Given the description of an element on the screen output the (x, y) to click on. 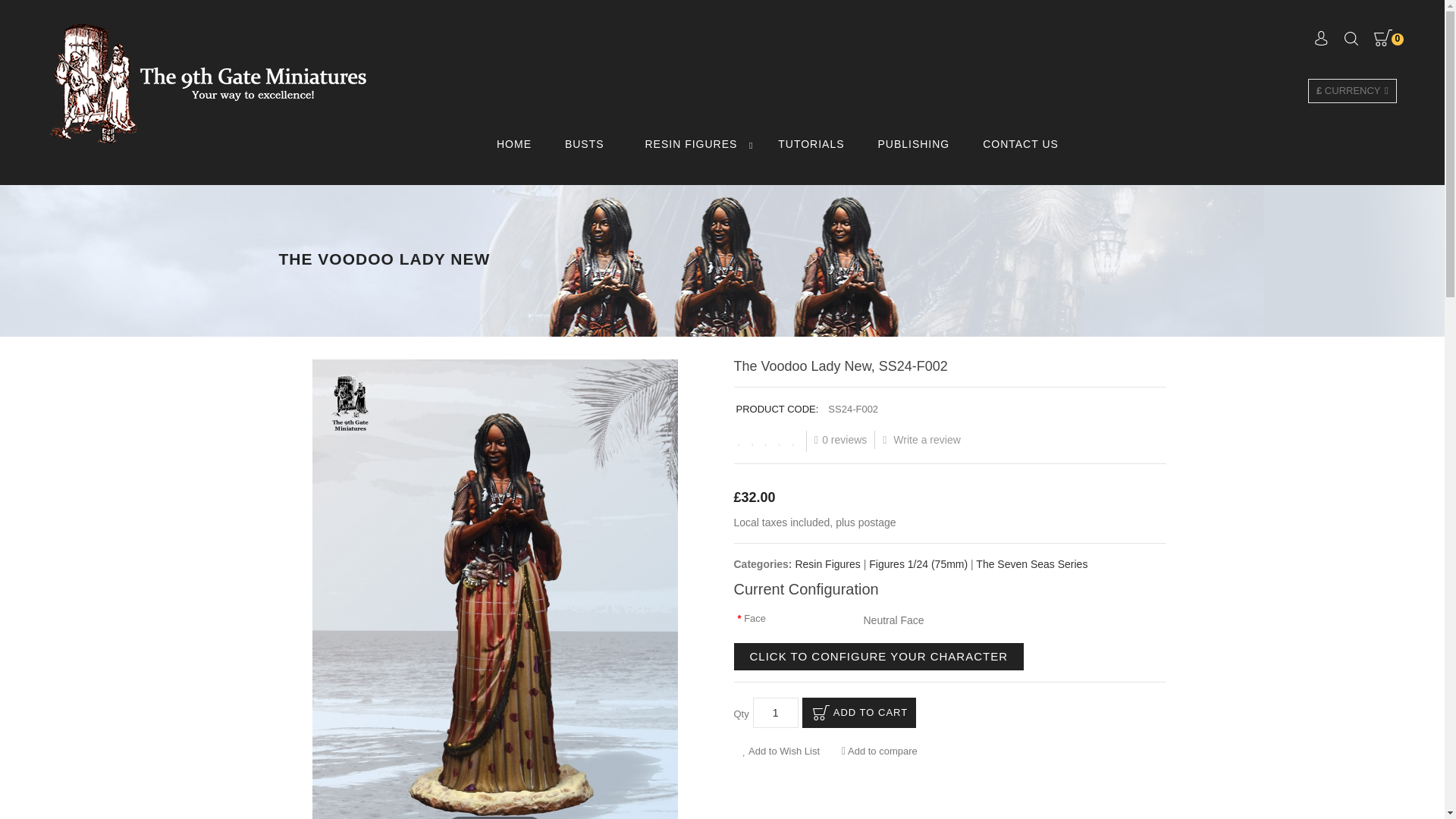
BUSTS (585, 144)
HOME (514, 144)
0 (1387, 36)
1 (774, 712)
TUTORIALS (810, 144)
PUBLISHING (912, 144)
RESIN FIGURES (690, 144)
CONTACT US (1021, 144)
